Given the description of an element on the screen output the (x, y) to click on. 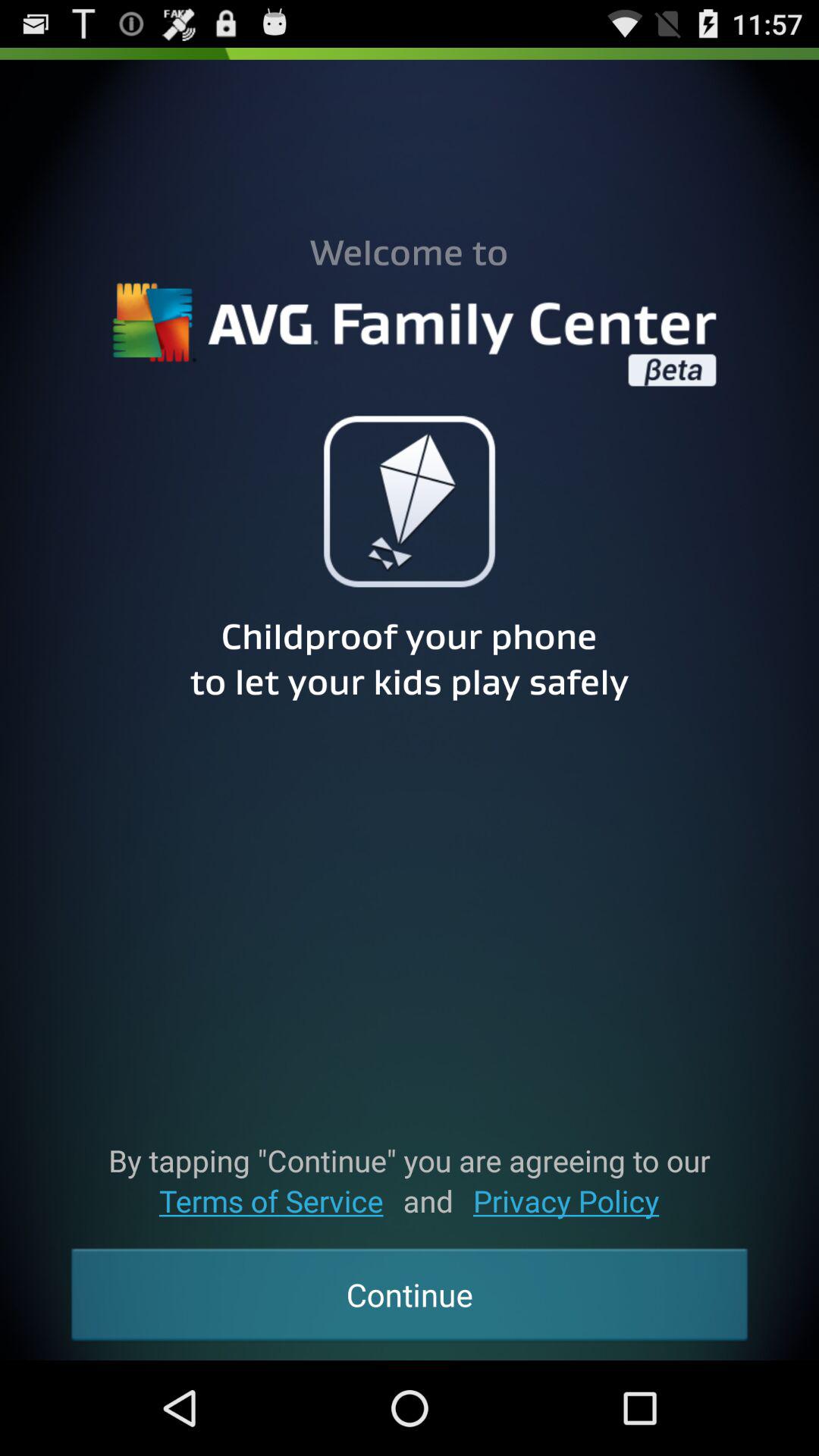
turn off item to the left of the and icon (271, 1200)
